Given the description of an element on the screen output the (x, y) to click on. 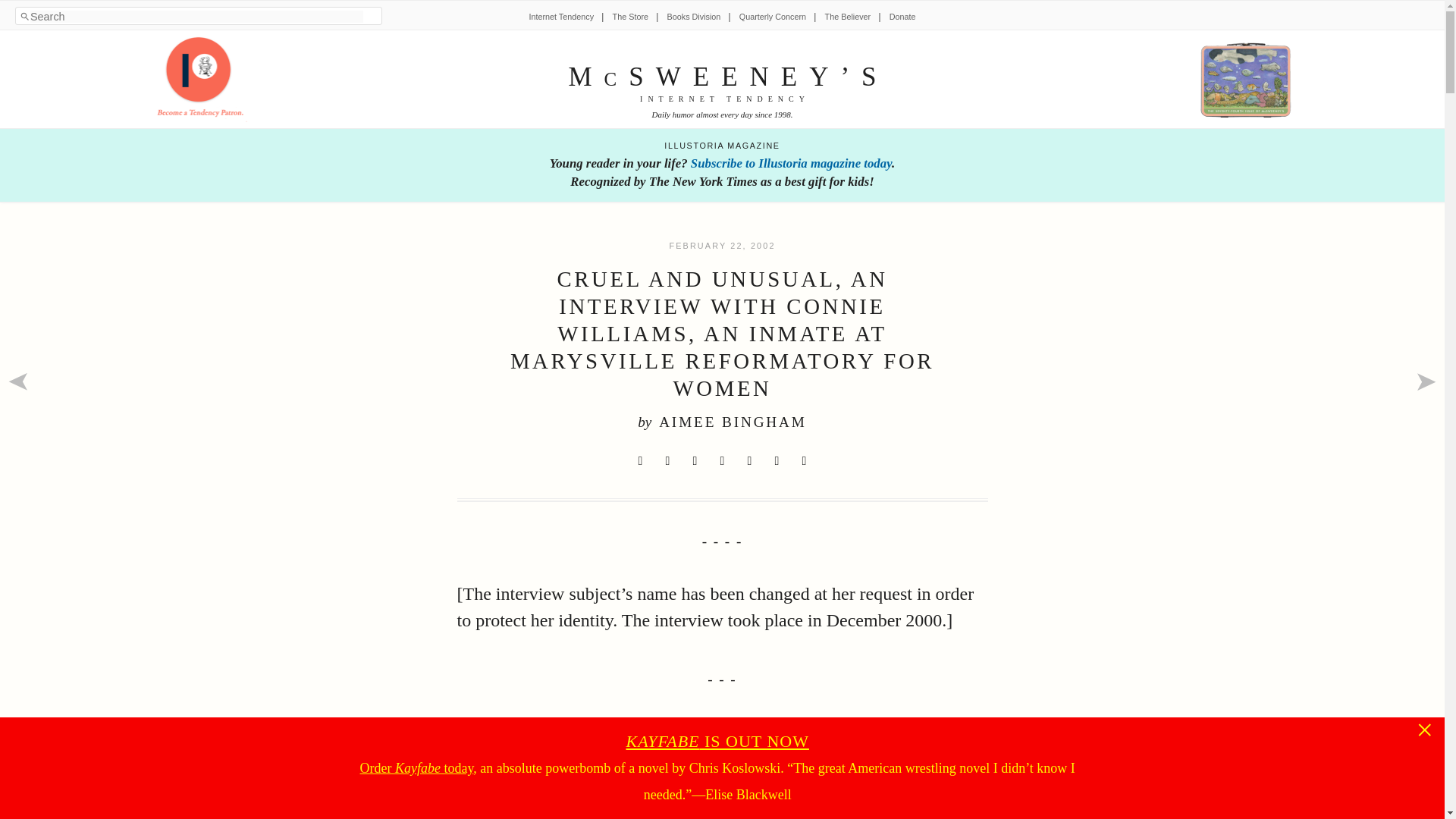
Share to Facebook (667, 460)
Search Field (196, 16)
Share to Reddit (695, 460)
Donate (902, 16)
Subscribe to Illustoria magazine today (790, 163)
Share to X (640, 460)
Share to Threads (749, 460)
Share to Bluesky (722, 460)
Internet Tendency (561, 16)
Books Division (693, 16)
